Given the description of an element on the screen output the (x, y) to click on. 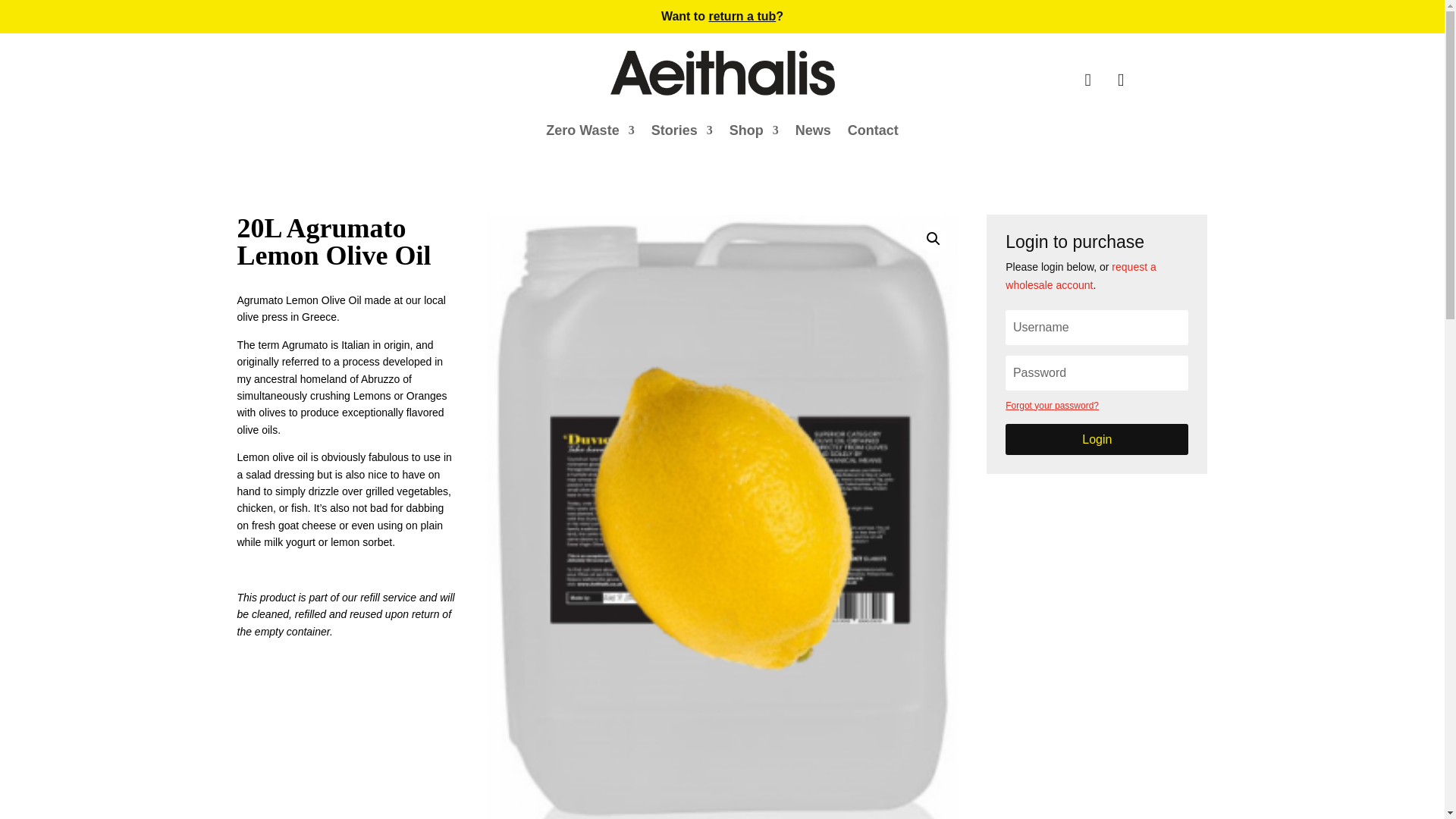
News (812, 133)
request a wholesale account (1081, 276)
Shop (753, 133)
aeithalis-text-logo-trans (721, 72)
Zero Waste (589, 133)
Login (1097, 439)
Stories (681, 133)
return a tub (741, 15)
Contact (872, 133)
Forgot your password? (1052, 405)
